Given the description of an element on the screen output the (x, y) to click on. 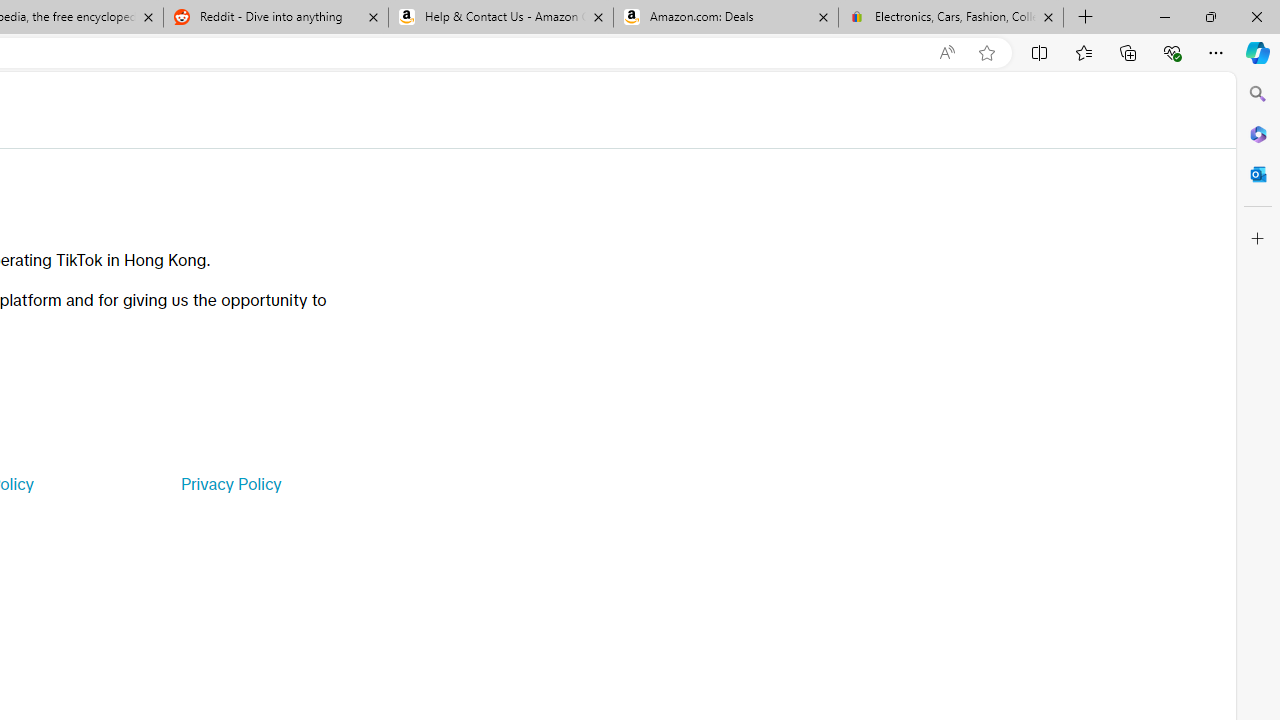
Minimize (1164, 16)
Customize (1258, 239)
Settings and more (Alt+F) (1215, 52)
New Tab (1085, 17)
Microsoft 365 (1258, 133)
Search (1258, 94)
Favorites (1083, 52)
Electronics, Cars, Fashion, Collectibles & More | eBay (950, 17)
Close Outlook pane (1258, 174)
Restore (1210, 16)
Help & Contact Us - Amazon Customer Service (501, 17)
Close (1256, 16)
Browser essentials (1171, 52)
